Given the description of an element on the screen output the (x, y) to click on. 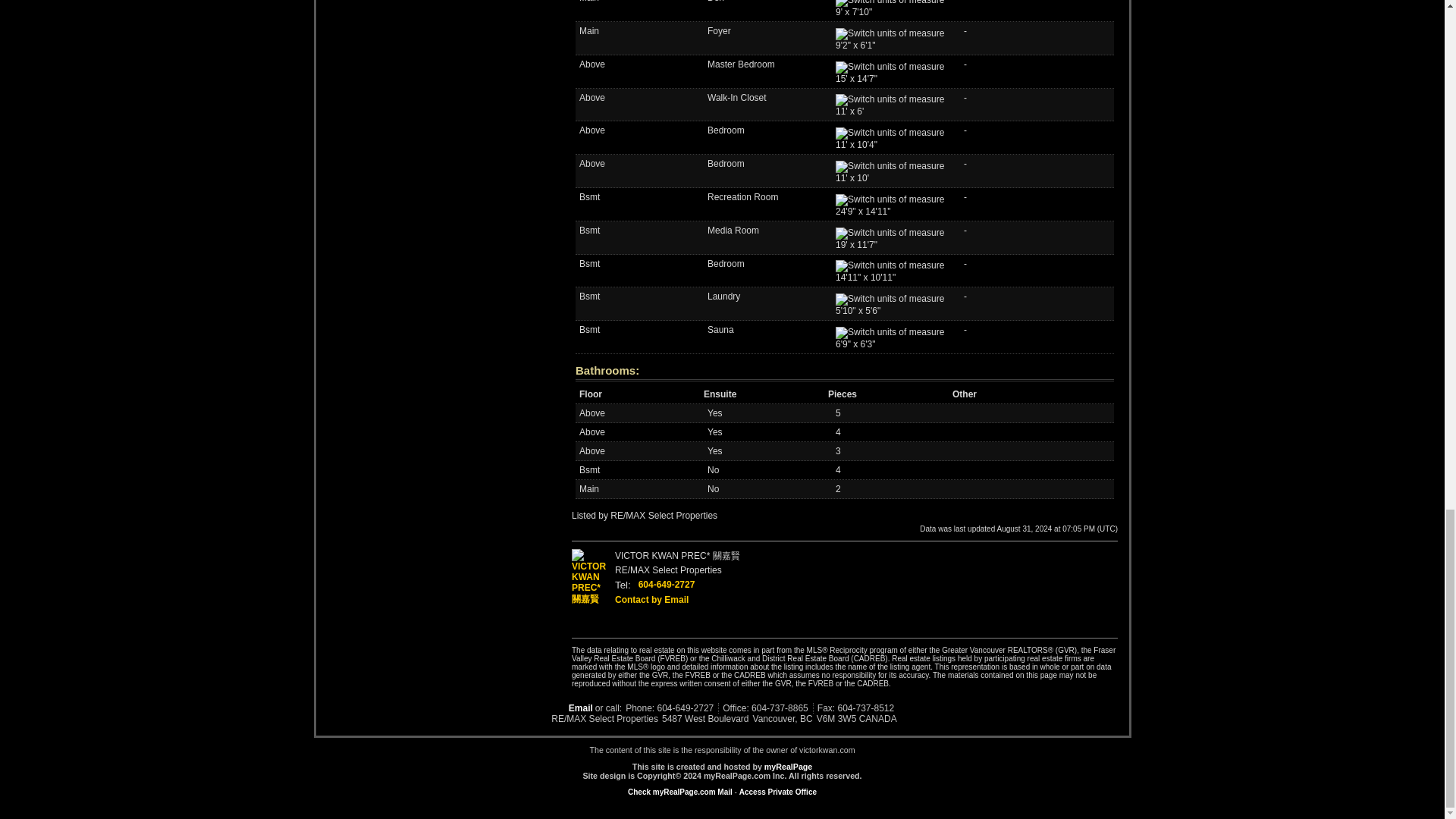
Email (573, 707)
Check myRealPage.com Mail (679, 791)
myRealPage (788, 766)
Access Private Office (777, 791)
Website hosted by myRealPage: Websites for Real Estate (788, 766)
Contact by Email (651, 599)
Contact via email... (573, 707)
604-649-2727 (667, 584)
